Given the description of an element on the screen output the (x, y) to click on. 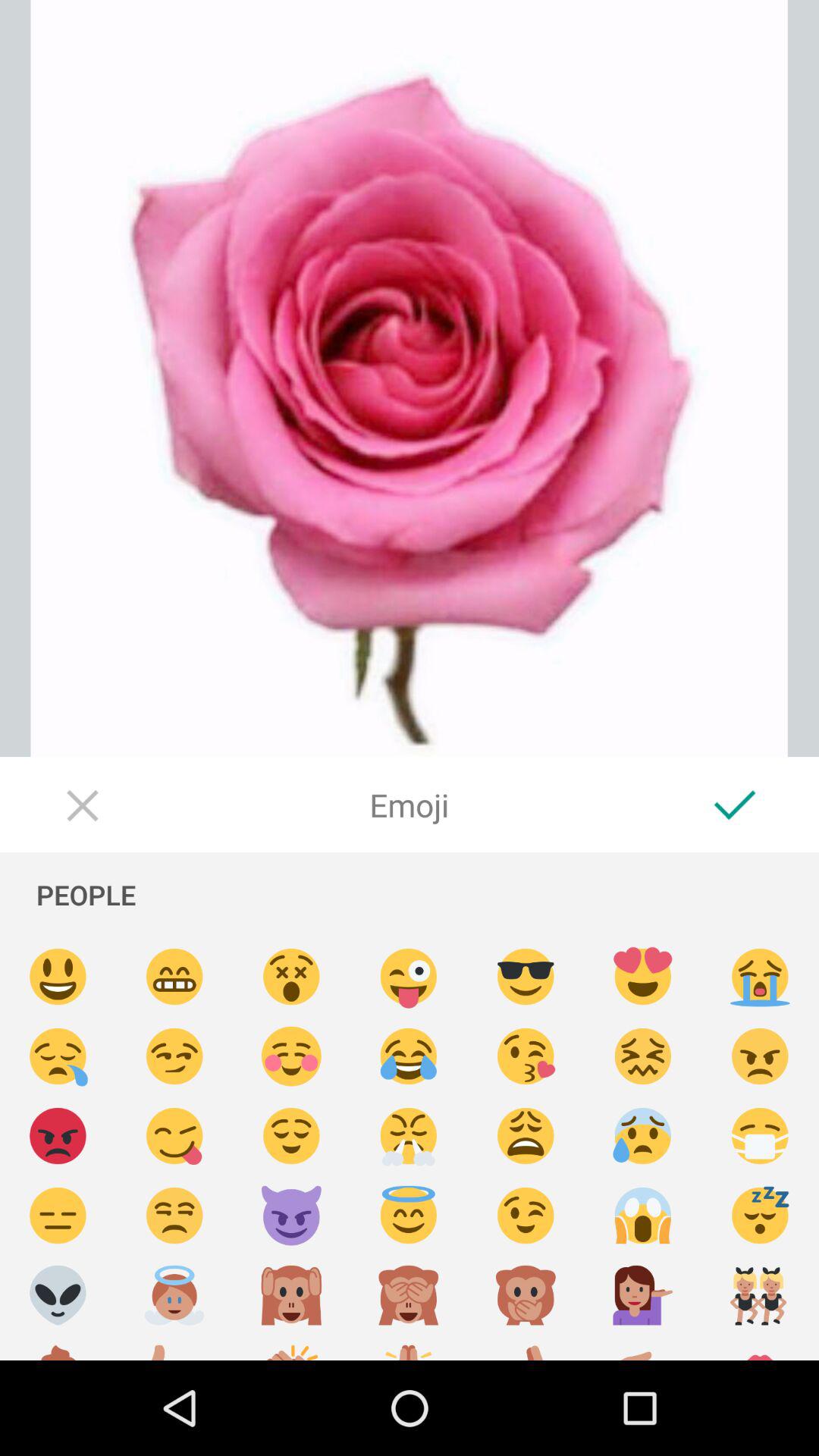
select emoji (525, 1056)
